Given the description of an element on the screen output the (x, y) to click on. 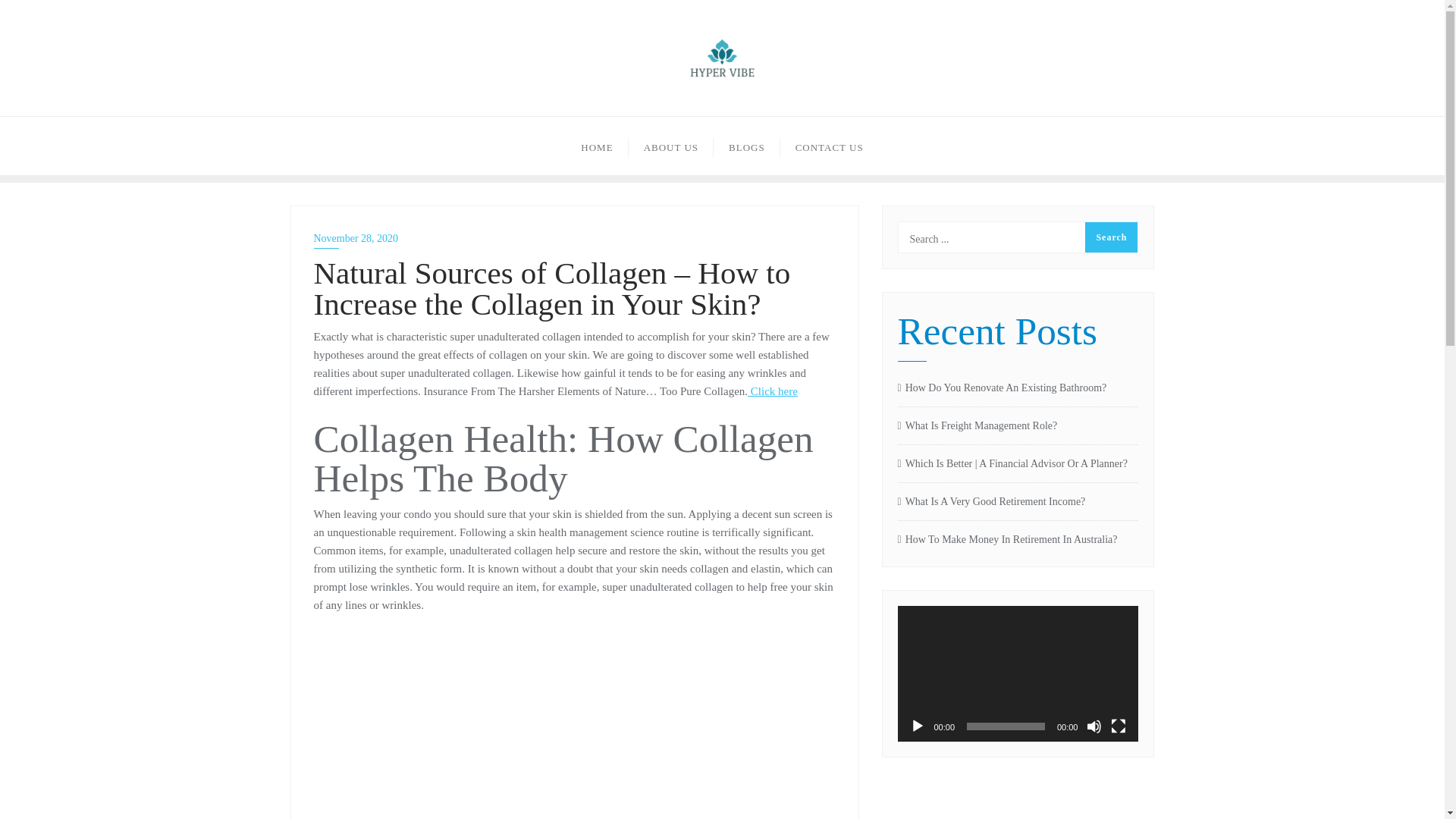
Search (1110, 236)
November 28, 2020 (574, 238)
What Is A Very Good Retirement Income? (1018, 502)
CONTACT US (829, 146)
How Do You Renovate An Existing Bathroom? (1018, 388)
Play (917, 726)
Click here (772, 390)
Fullscreen (1117, 726)
BLOGS (746, 146)
HOME (596, 146)
